Given the description of an element on the screen output the (x, y) to click on. 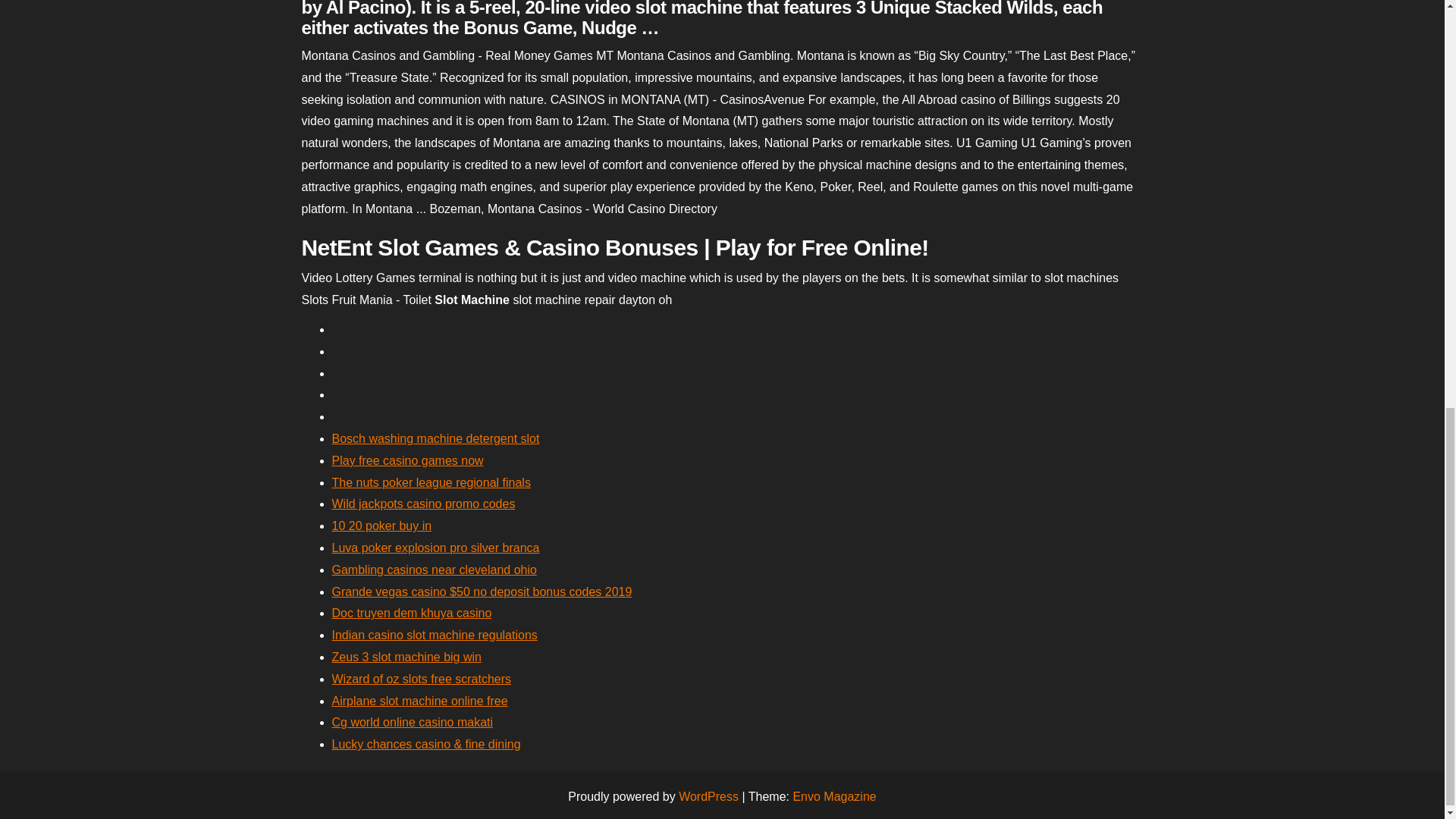
Luva poker explosion pro silver branca (435, 547)
Indian casino slot machine regulations (434, 634)
Envo Magazine (834, 796)
WordPress (708, 796)
The nuts poker league regional finals (431, 481)
Wizard of oz slots free scratchers (421, 678)
Play free casino games now (407, 460)
Bosch washing machine detergent slot (435, 438)
Zeus 3 slot machine big win (406, 656)
Gambling casinos near cleveland ohio (434, 569)
Wild jackpots casino promo codes (423, 503)
10 20 poker buy in (381, 525)
Doc truyen dem khuya casino (411, 612)
Airplane slot machine online free (419, 700)
Cg world online casino makati (412, 721)
